Given the description of an element on the screen output the (x, y) to click on. 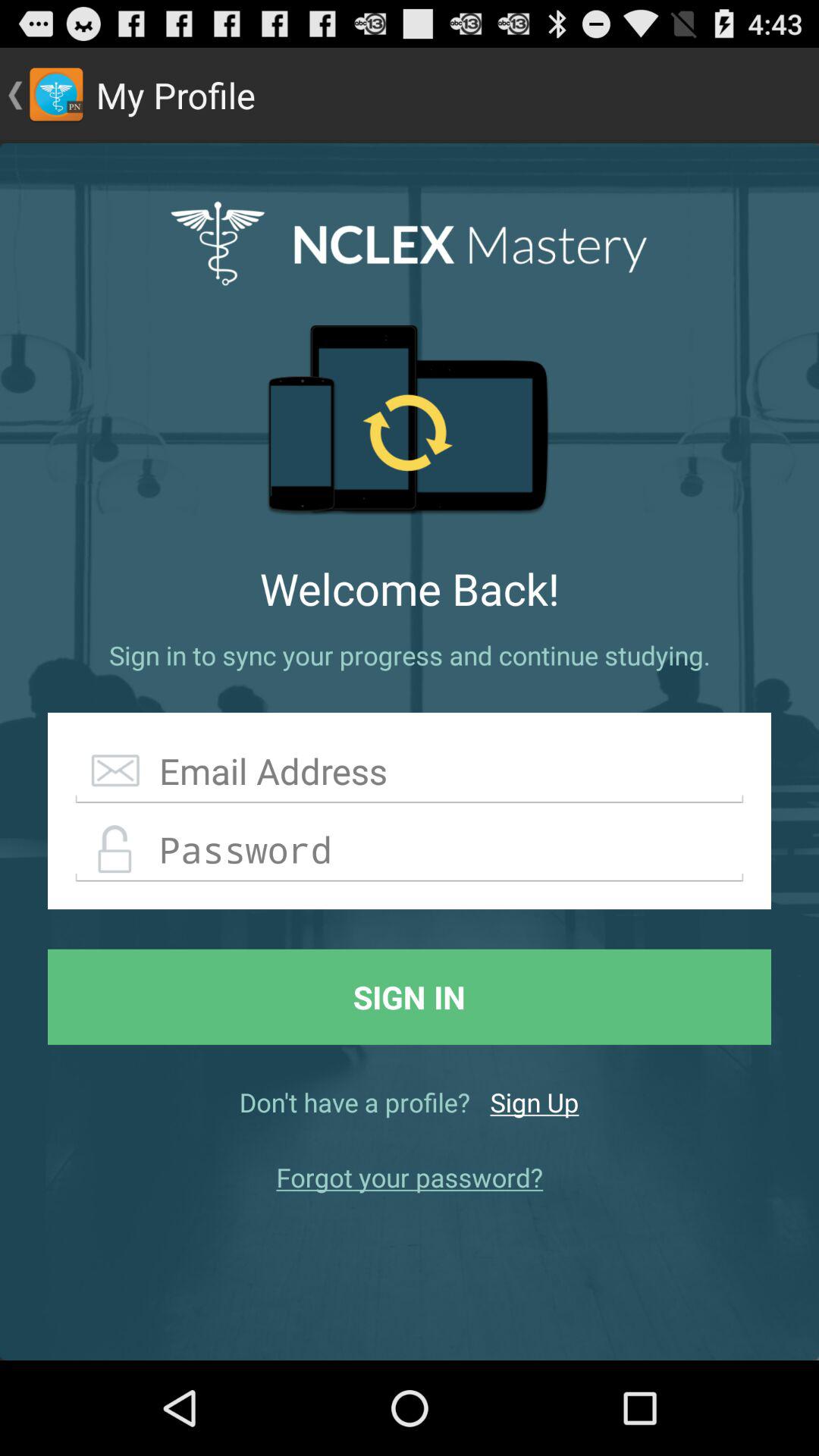
creat password (409, 850)
